Given the description of an element on the screen output the (x, y) to click on. 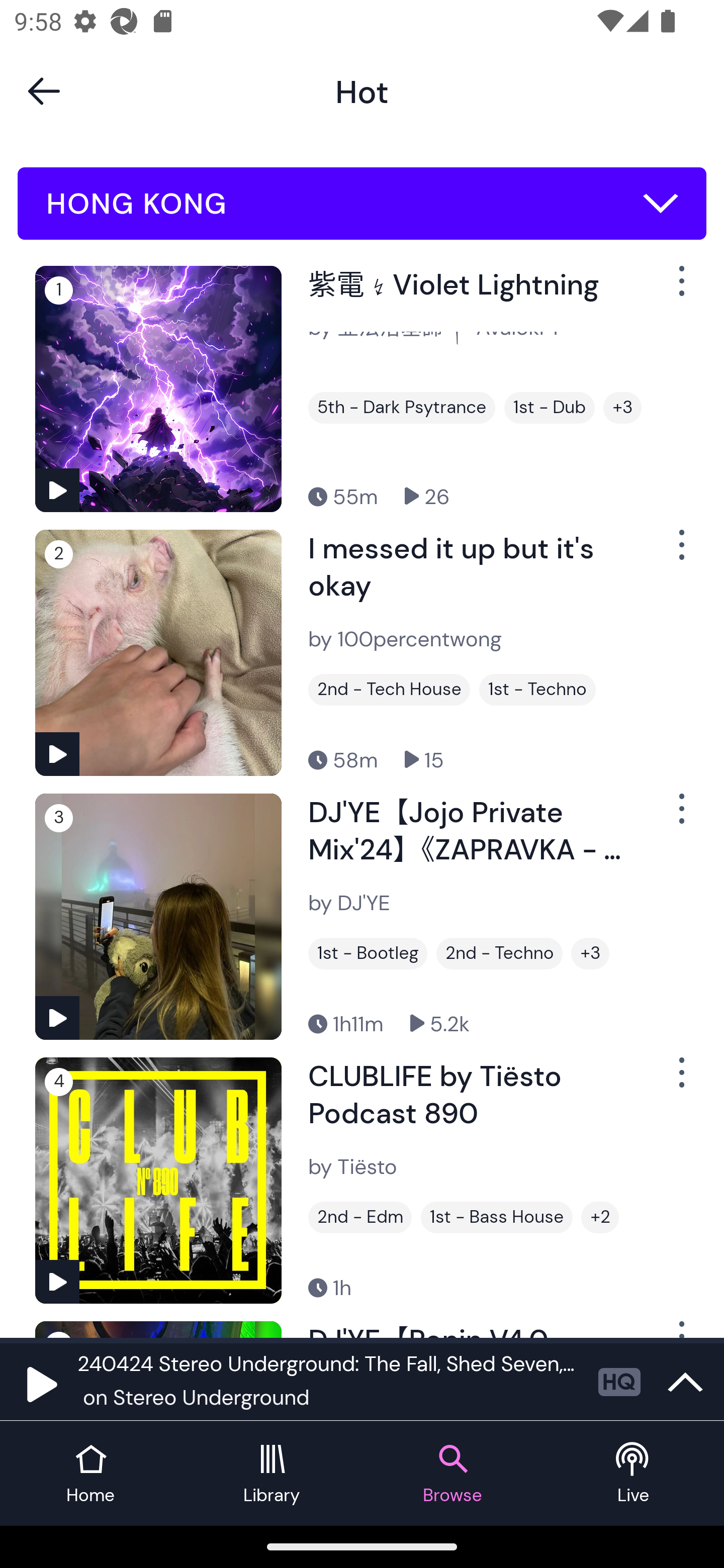
HONG KONG (361, 203)
Show Options Menu Button (679, 289)
5th - Dark Psytrance (401, 407)
1st - Dub (549, 407)
Show Options Menu Button (679, 552)
2nd - Tech House (388, 689)
1st - Techno (537, 689)
Show Options Menu Button (679, 815)
1st - Bootleg (367, 953)
2nd - Techno (499, 953)
Show Options Menu Button (679, 1079)
2nd - Edm (359, 1217)
1st - Bass House (496, 1217)
Home tab Home (90, 1473)
Library tab Library (271, 1473)
Browse tab Browse (452, 1473)
Live tab Live (633, 1473)
